Given the description of an element on the screen output the (x, y) to click on. 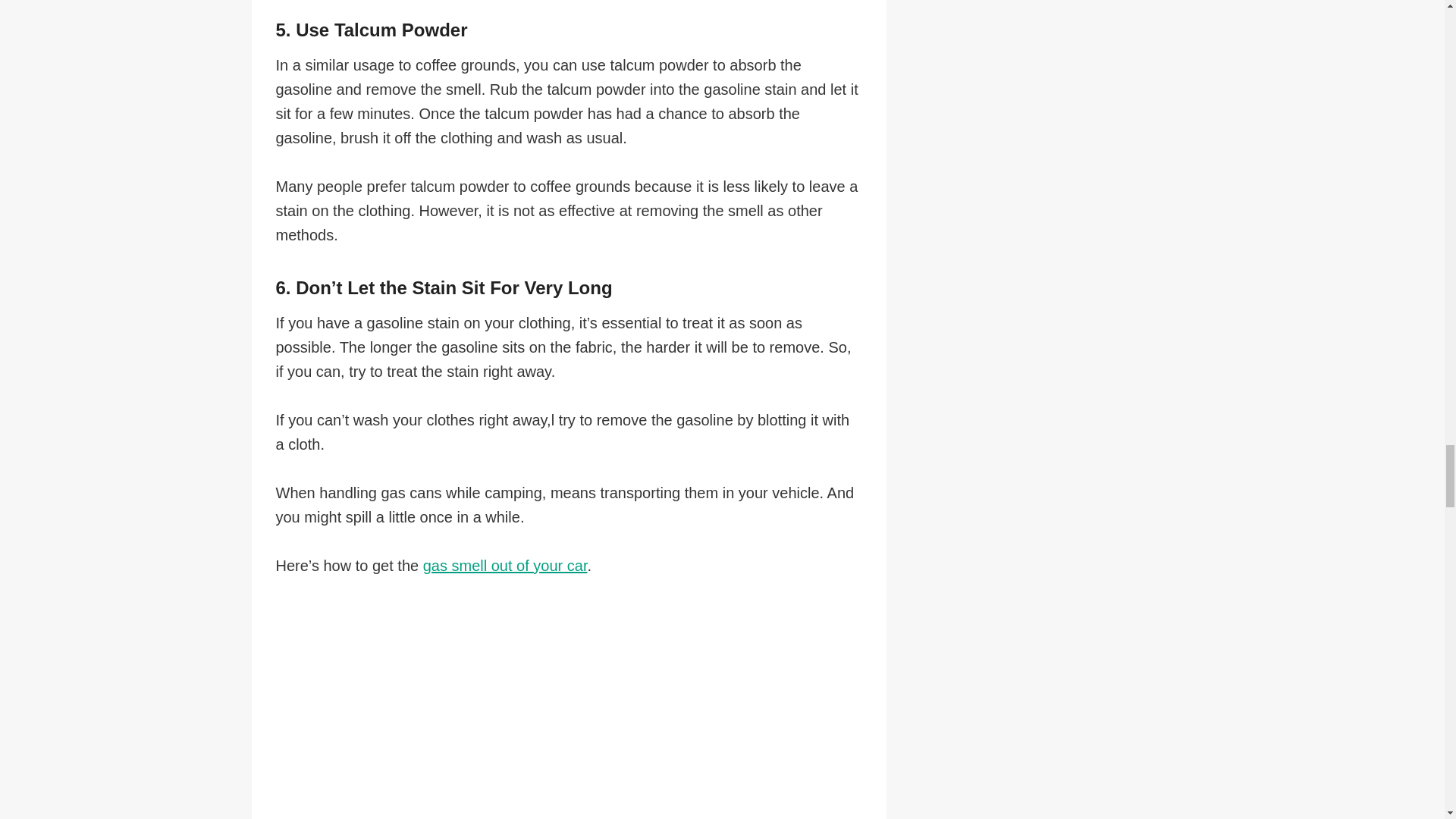
gas smell out of your car (505, 565)
